Given the description of an element on the screen output the (x, y) to click on. 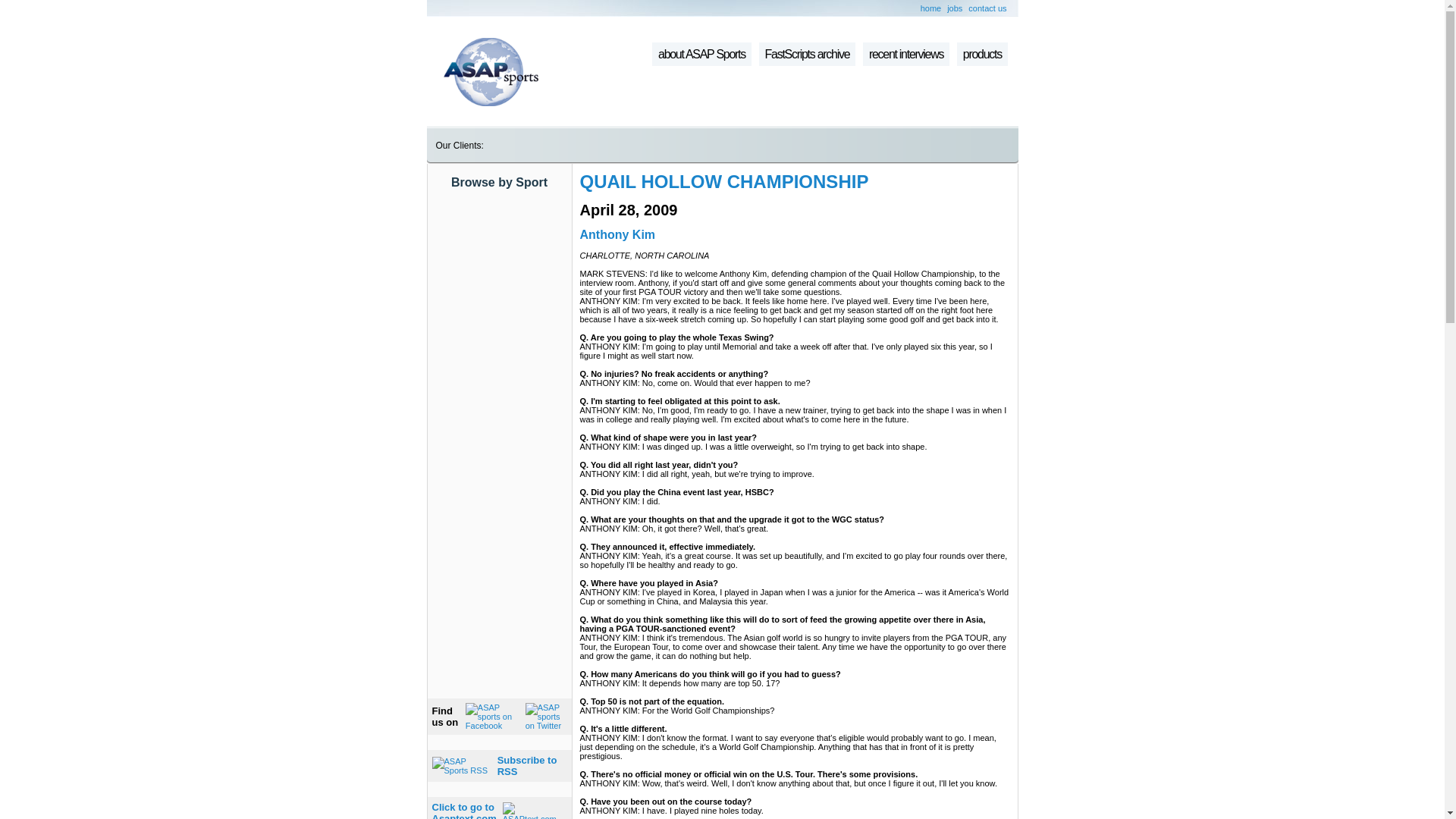
recent interviews (906, 54)
contact us (987, 8)
home (931, 8)
FastScripts archive (807, 54)
about ASAP Sports (701, 54)
Subscribe to RSS (527, 765)
Anthony Kim (617, 234)
jobs (954, 8)
products (464, 810)
